Given the description of an element on the screen output the (x, y) to click on. 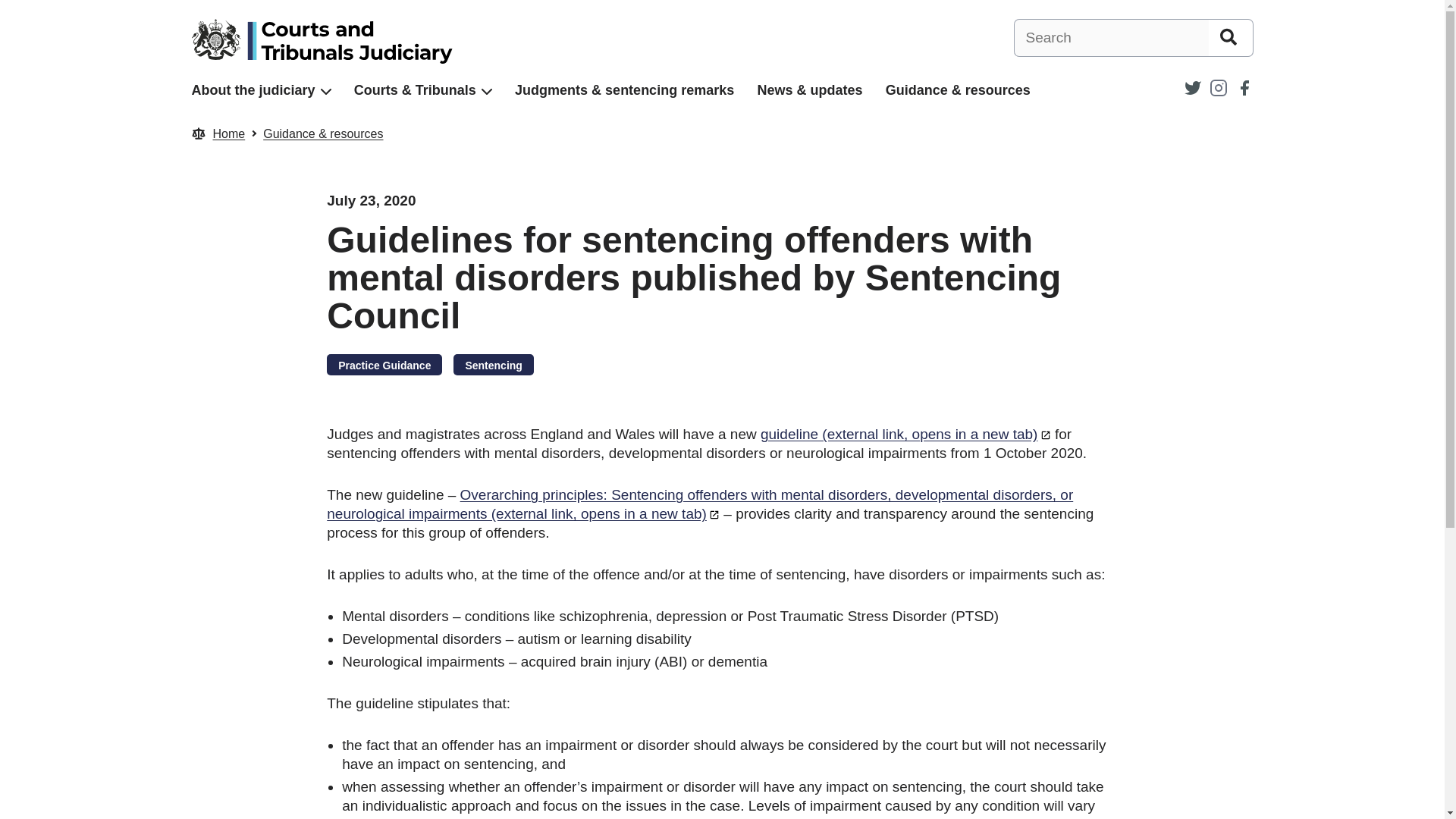
Skip to main content (11, 7)
About the judiciary (252, 90)
